Given the description of an element on the screen output the (x, y) to click on. 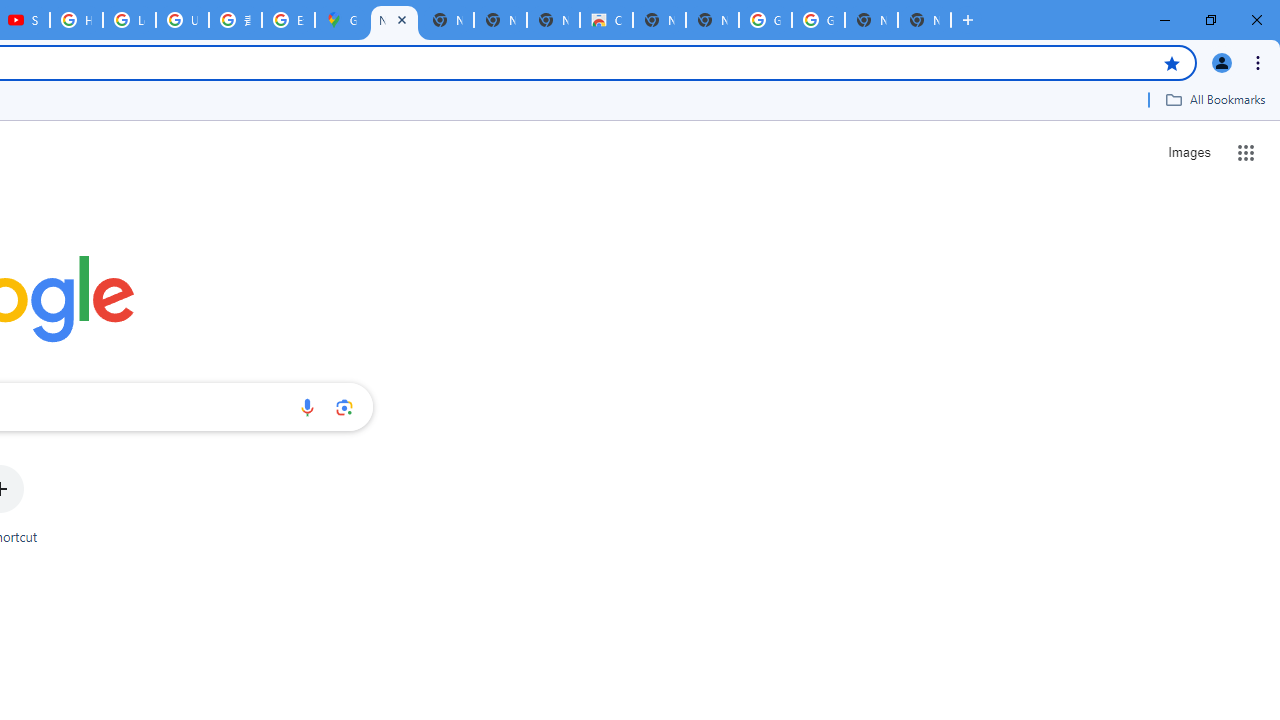
Google Images (765, 20)
